Given the description of an element on the screen output the (x, y) to click on. 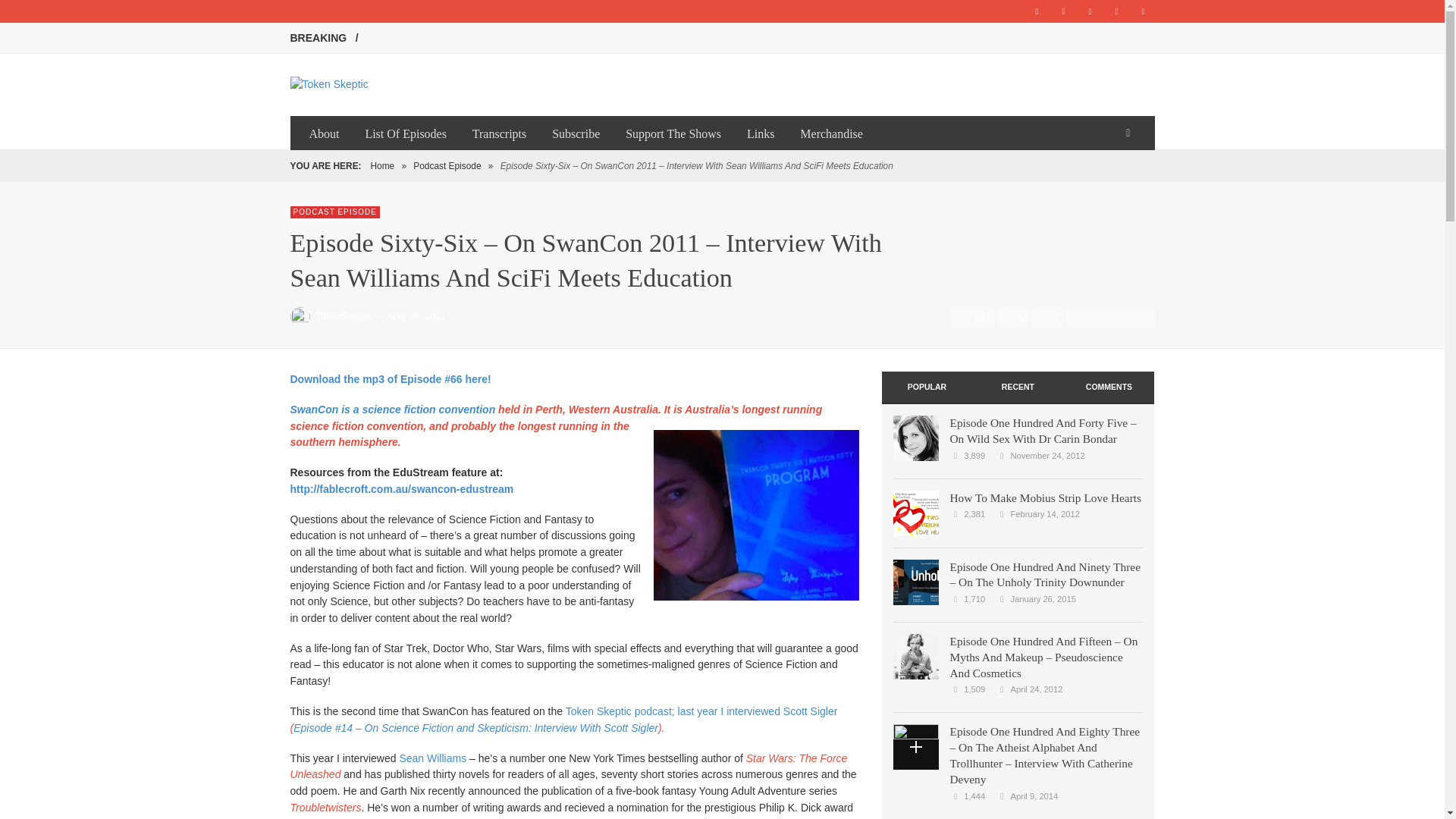
About (323, 132)
Instagram (1116, 11)
Merchandise (832, 132)
PODCAST EPISODE (333, 212)
Merchandise (832, 132)
Links (760, 132)
Subscribe  (575, 132)
Transcripts (499, 132)
Facebook (1063, 11)
Transcripts (499, 132)
